Given the description of an element on the screen output the (x, y) to click on. 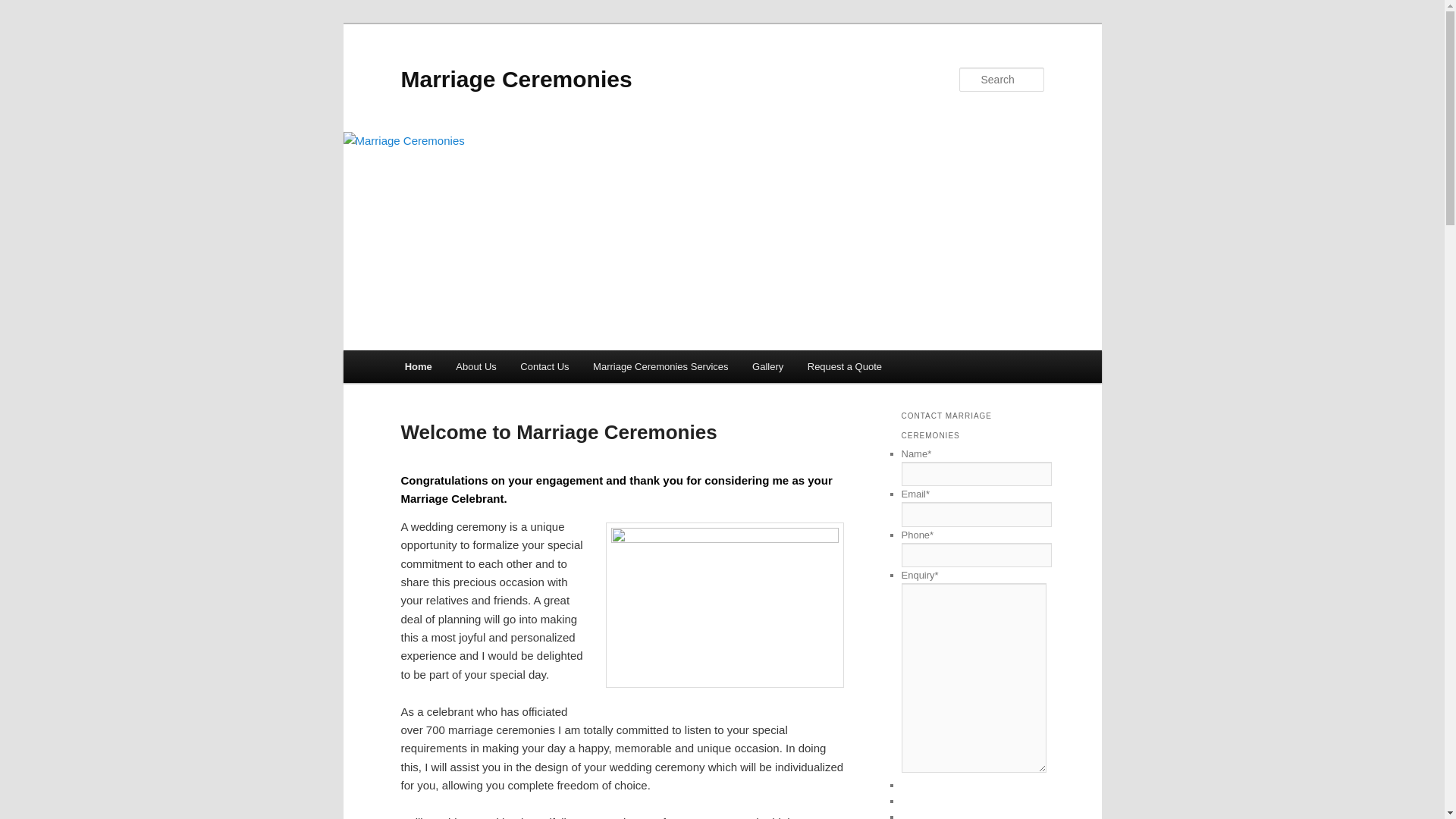
Gallery Element type: text (767, 366)
Request a Quote Element type: text (844, 366)
Skip to primary content Element type: text (22, 22)
About Us Element type: text (476, 366)
Marriage Ceremonies Services Element type: text (660, 366)
Search Element type: text (24, 8)
Contact Us Element type: text (544, 366)
Home Element type: text (418, 366)
Marriage Ceremonies Element type: text (515, 78)
